Given the description of an element on the screen output the (x, y) to click on. 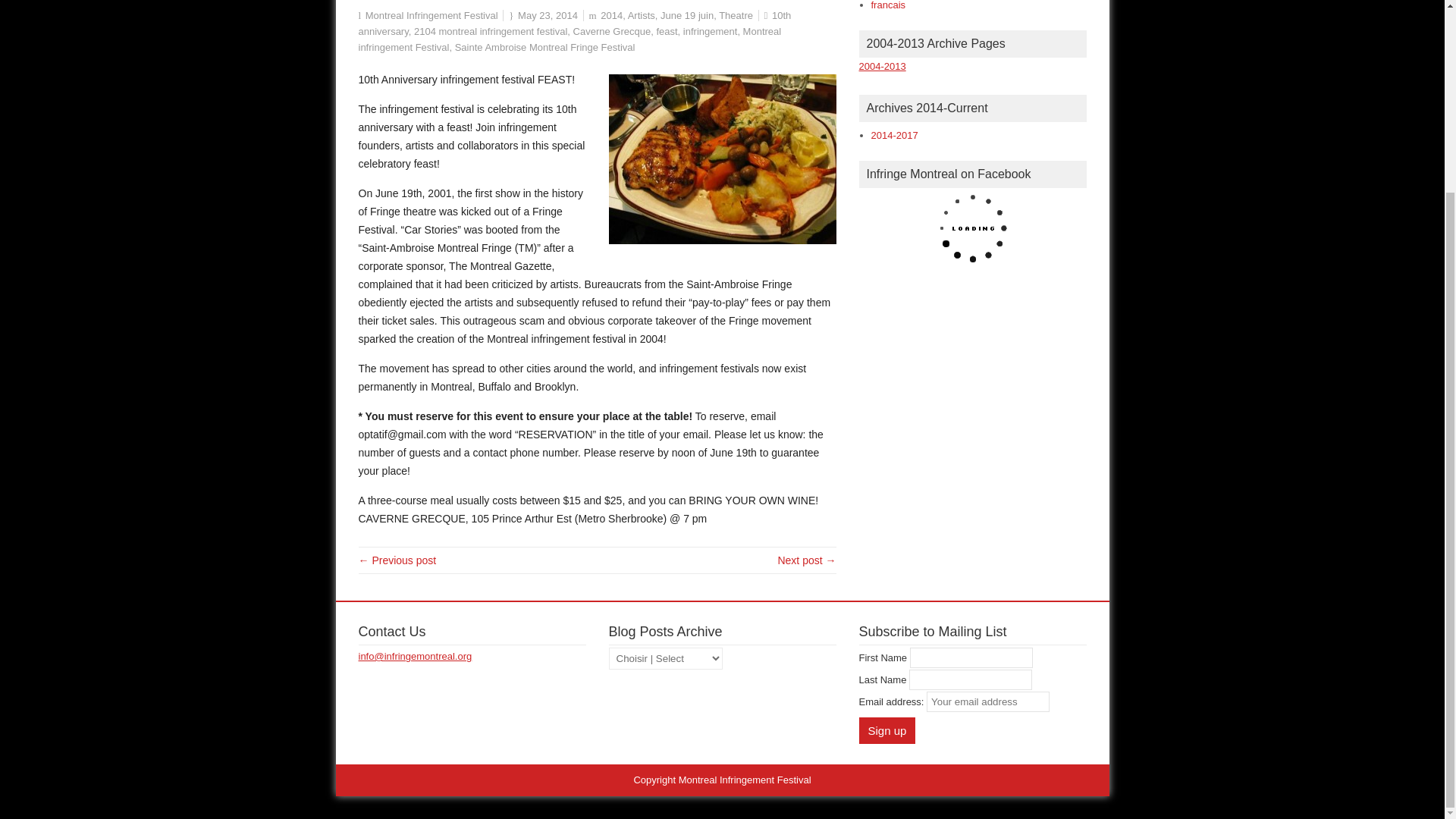
2104 montreal infringement festival (490, 30)
Sign up (887, 730)
Theatre (735, 15)
francais (887, 5)
2014-2017 (893, 134)
Montreal infringement Festival (569, 39)
2004-2013 (882, 66)
10th anniversary (574, 22)
2014 (611, 15)
Sainte Ambroise Montreal Fringe Festival (544, 47)
Artists (641, 15)
Caverne Grecque (611, 30)
infringement (710, 30)
Critical Report from the World Fringe Congress (396, 560)
Montreal Infringement Festival (431, 15)
